Given the description of an element on the screen output the (x, y) to click on. 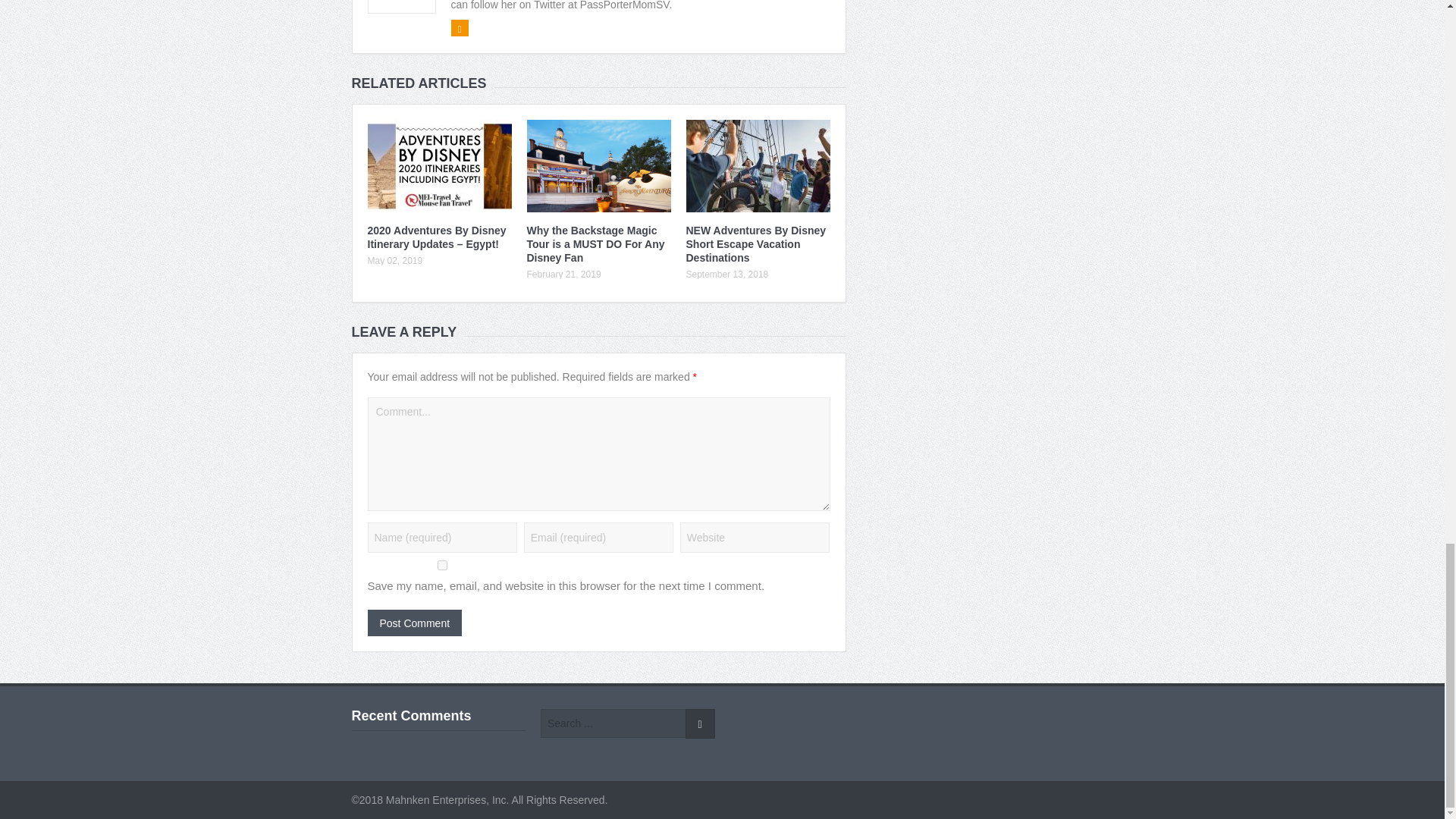
Post Comment (413, 622)
Why the Backstage Magic Tour is a MUST DO For Any Disney Fan (594, 243)
yes (441, 565)
